Given the description of an element on the screen output the (x, y) to click on. 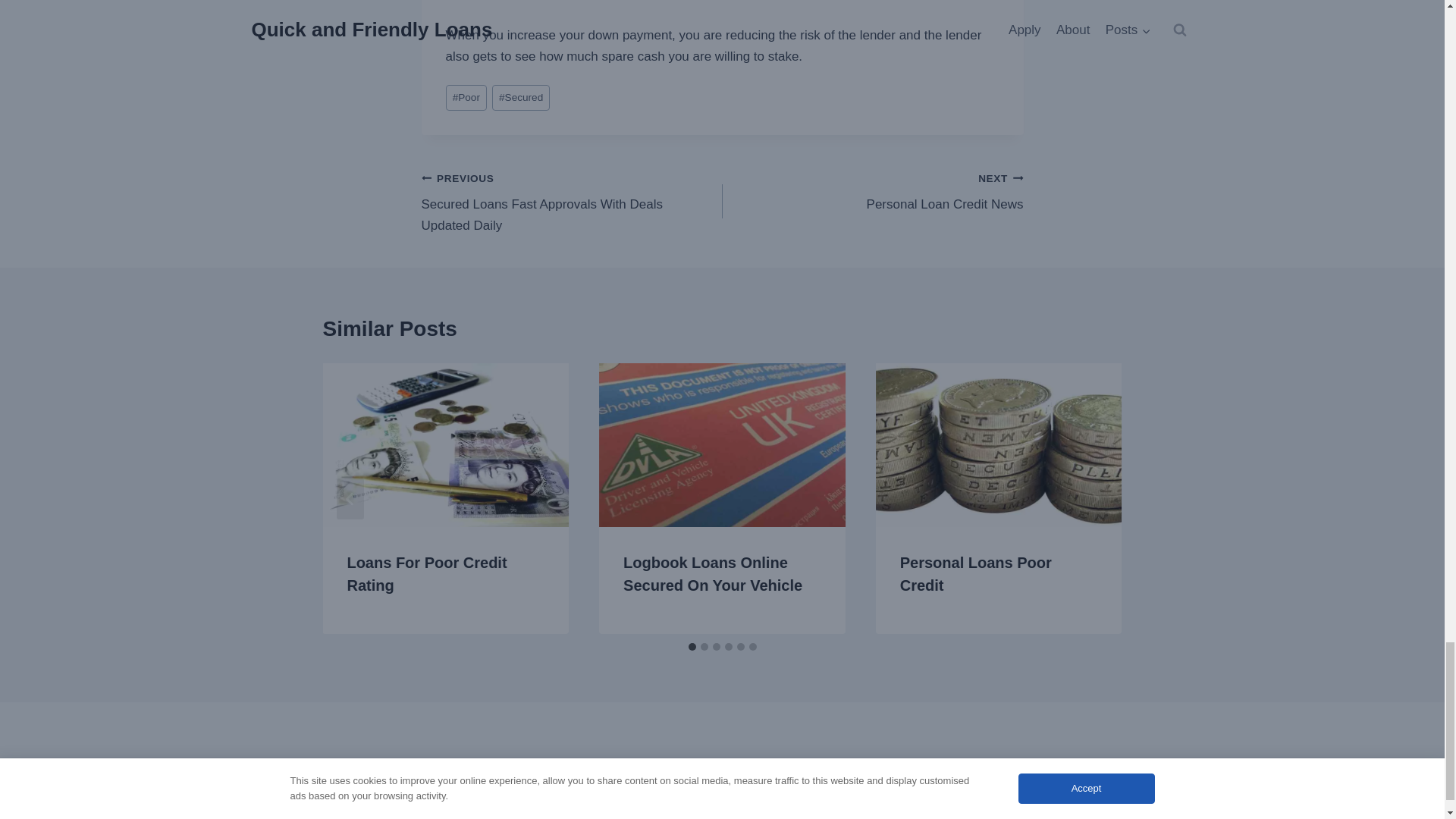
Secured (521, 98)
Poor (466, 98)
